Given the description of an element on the screen output the (x, y) to click on. 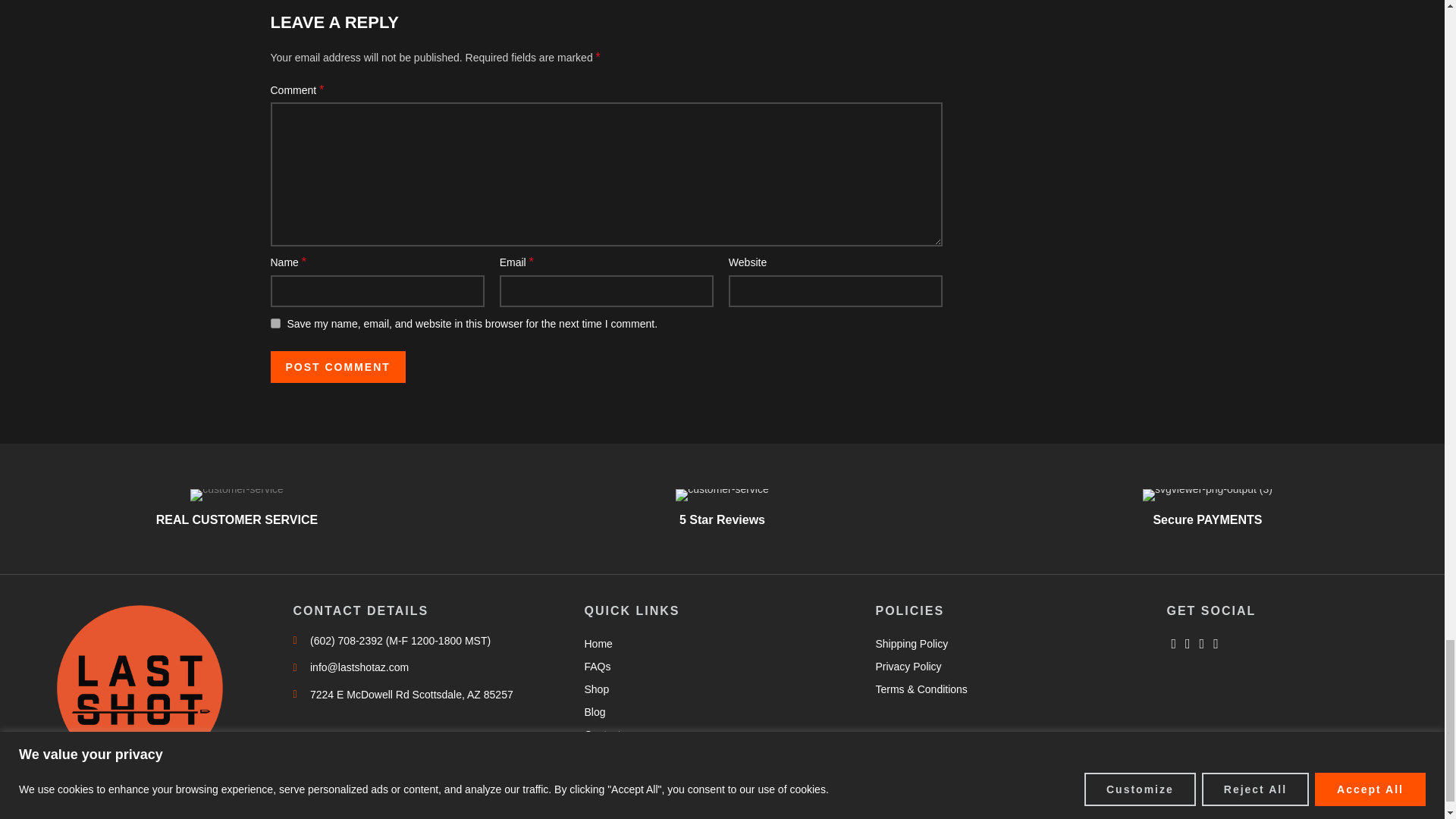
yes (274, 323)
customer-service (721, 494)
customer-service (236, 494)
Post Comment (336, 367)
